Given the description of an element on the screen output the (x, y) to click on. 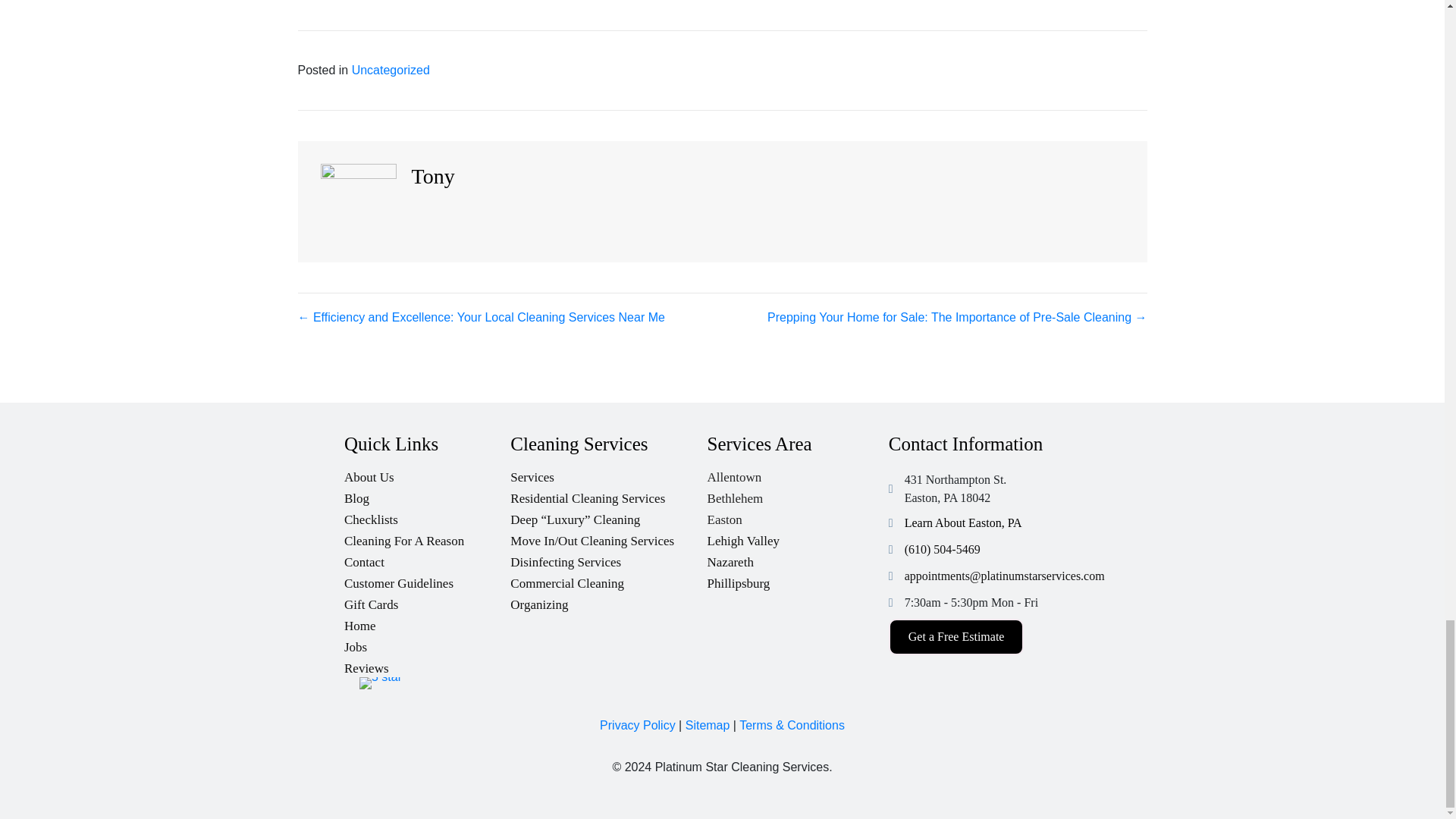
Blog (427, 494)
Uncategorized (390, 69)
Cleaning For A Reason (427, 537)
Contact (427, 557)
About Us (427, 473)
Checklists (427, 516)
Customer Guidelines (427, 579)
